Given the description of an element on the screen output the (x, y) to click on. 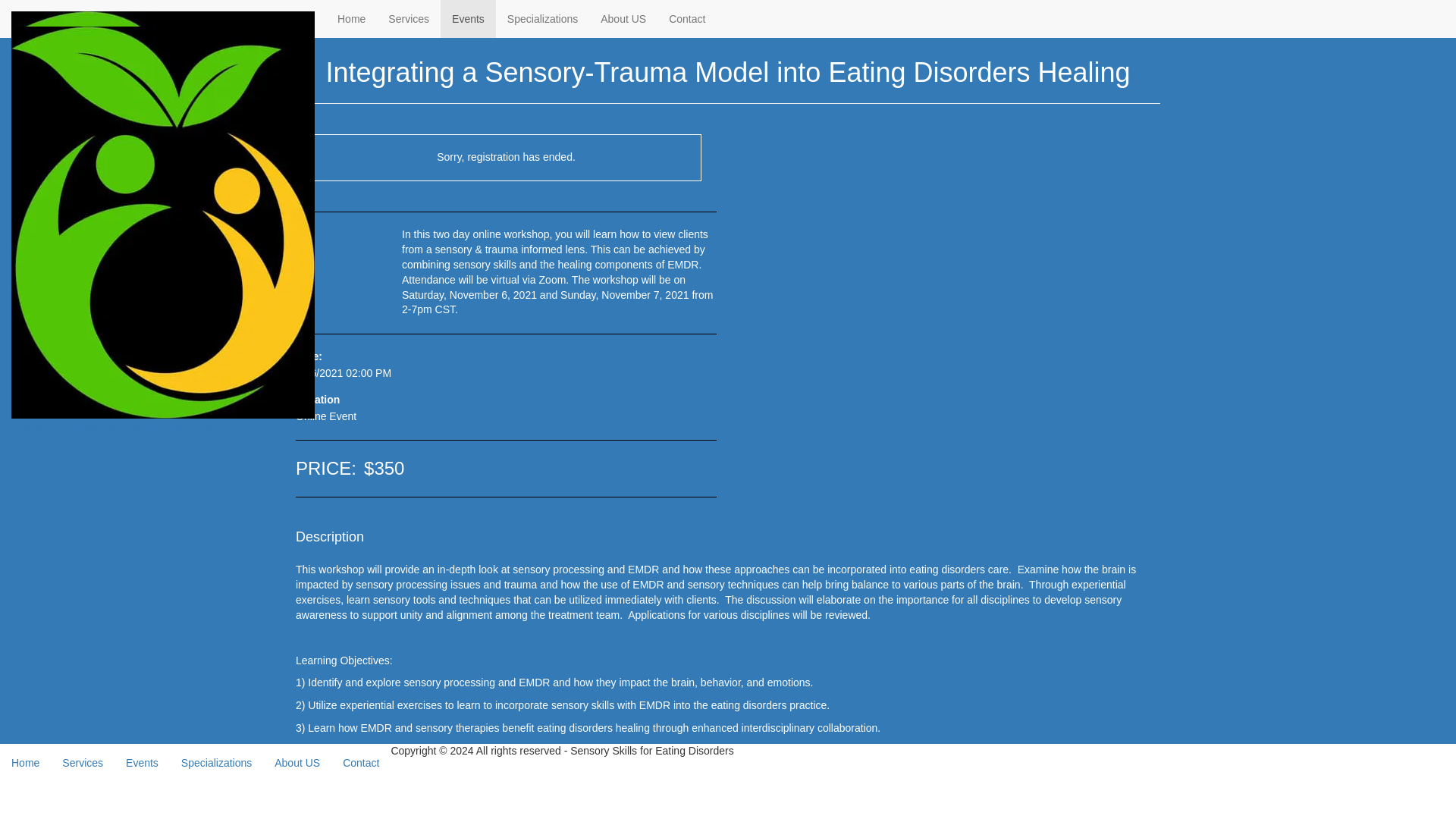
Services (409, 18)
About US (623, 18)
Events (468, 18)
Sensory Skills for Eating Disorders (163, 18)
Specializations (542, 18)
Contact (687, 18)
Sensory Skills for Eating Disorders (163, 34)
Home (351, 18)
